Given the description of an element on the screen output the (x, y) to click on. 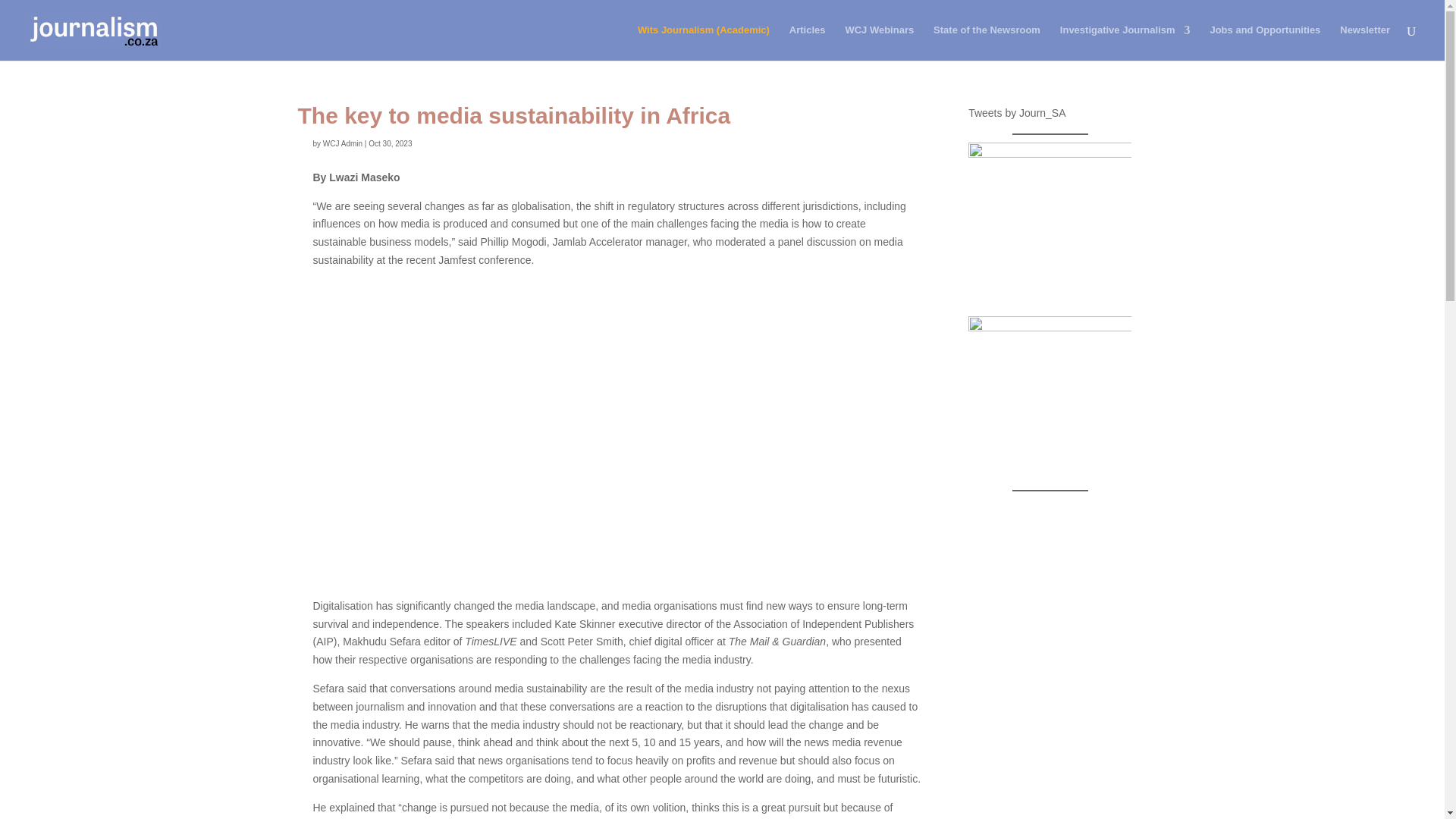
Newsletter (1364, 42)
Articles (807, 42)
Investigative Journalism (1125, 42)
Posts by WCJ Admin (342, 143)
WCJ Admin (342, 143)
State of the Newsroom (987, 42)
Jobs and Opportunities (1264, 42)
WCJ Webinars (879, 42)
